Given the description of an element on the screen output the (x, y) to click on. 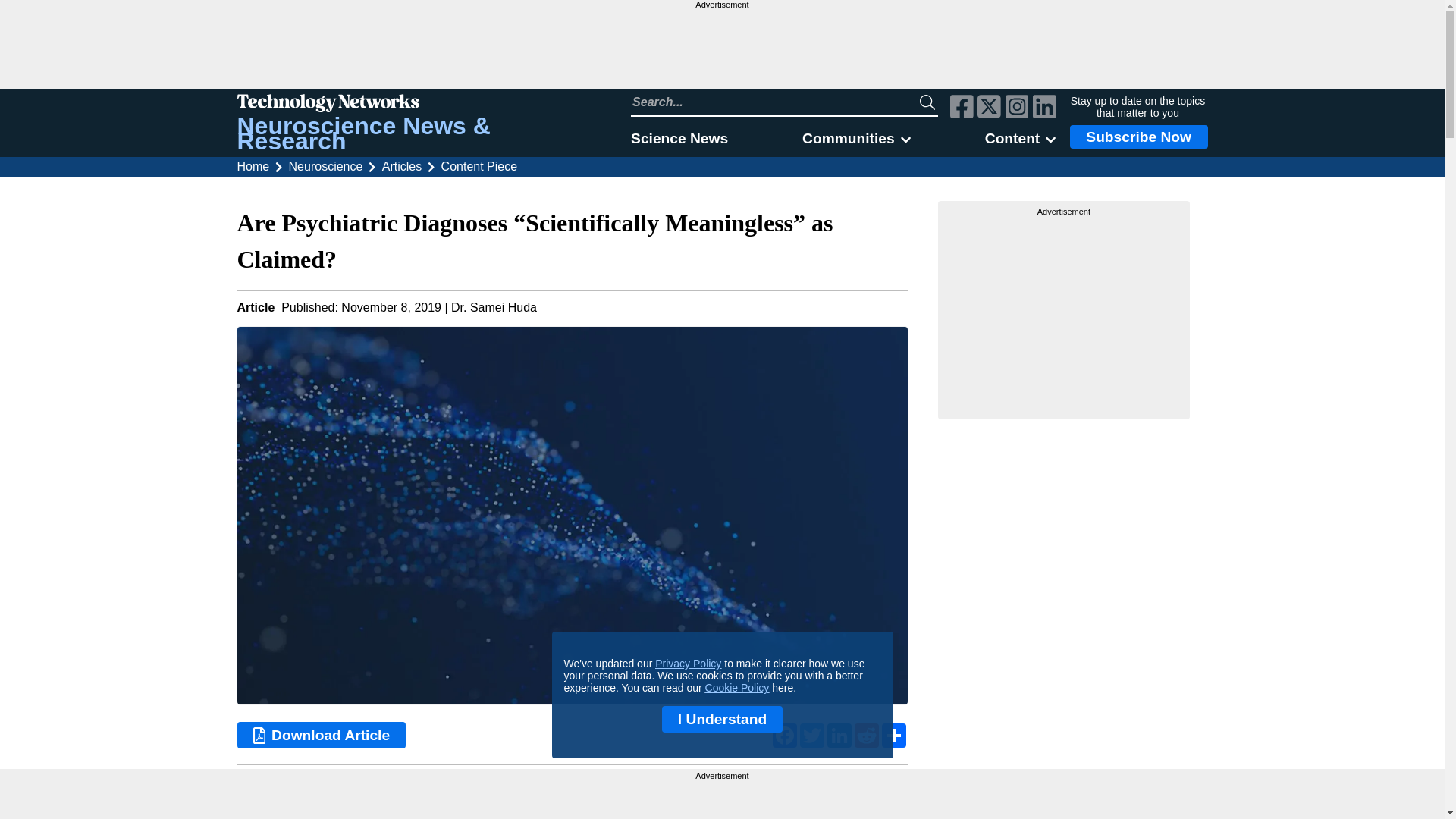
Link to Technology Networks' linkedin page (1044, 108)
Link to Technology Networks' twitter page (988, 108)
Cookie Policy (737, 687)
3rd party ad content (721, 49)
Link to Technology Networks' instagram page (1017, 108)
3rd party ad content (722, 799)
I Understand (722, 718)
Privacy Policy (687, 663)
Search Technology Networks website input field (775, 102)
Technology Networks logo (415, 104)
3rd party ad content (1063, 312)
Link to Technology Networks' facebook page (962, 108)
